Given the description of an element on the screen output the (x, y) to click on. 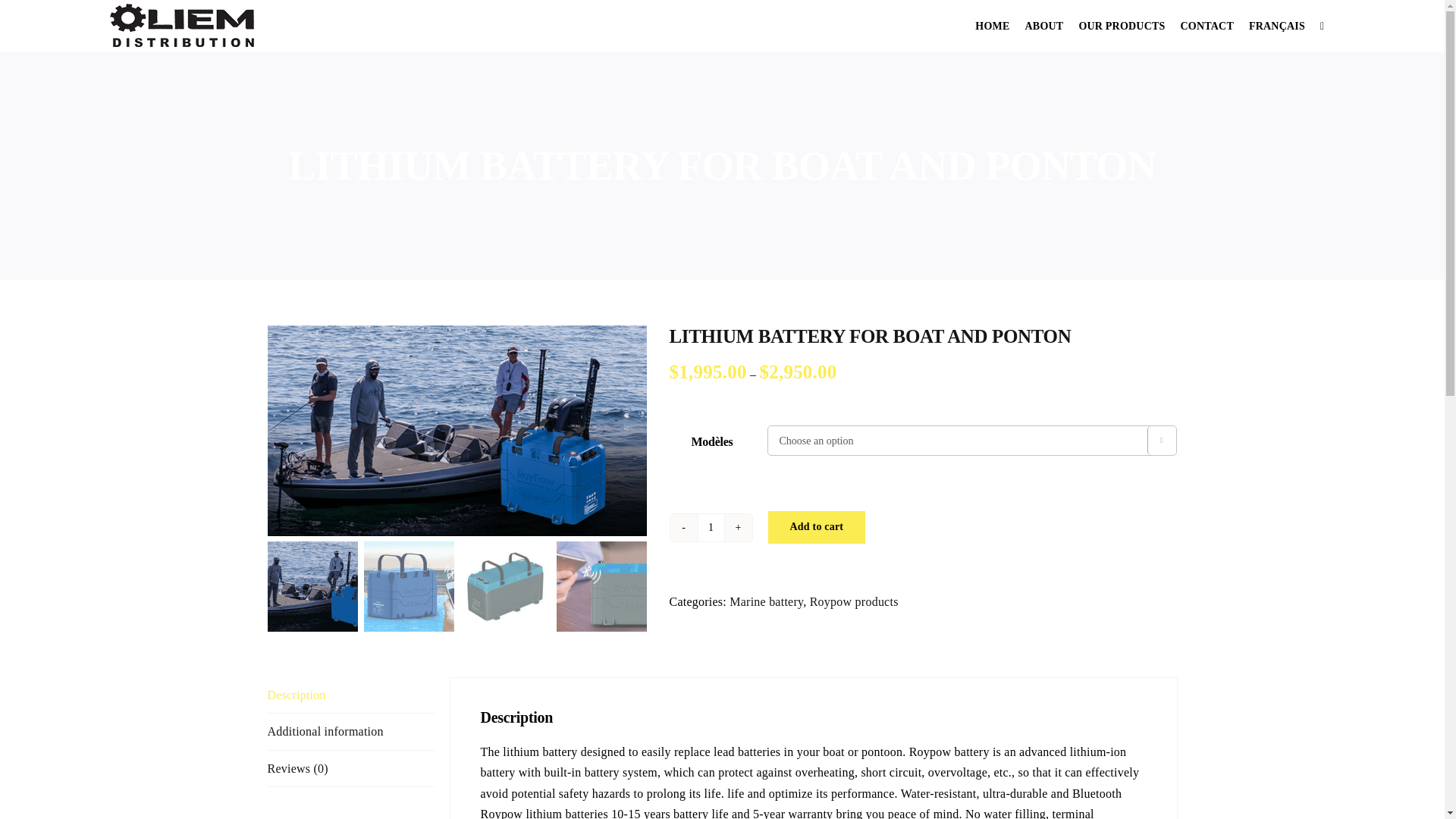
1 (711, 527)
- (683, 527)
CONTACT (1206, 26)
OUR PRODUCTS (1121, 26)
1665371776944 (456, 430)
motor beaot (133, 336)
HOME (992, 26)
ABOUT (1044, 26)
